Given the description of an element on the screen output the (x, y) to click on. 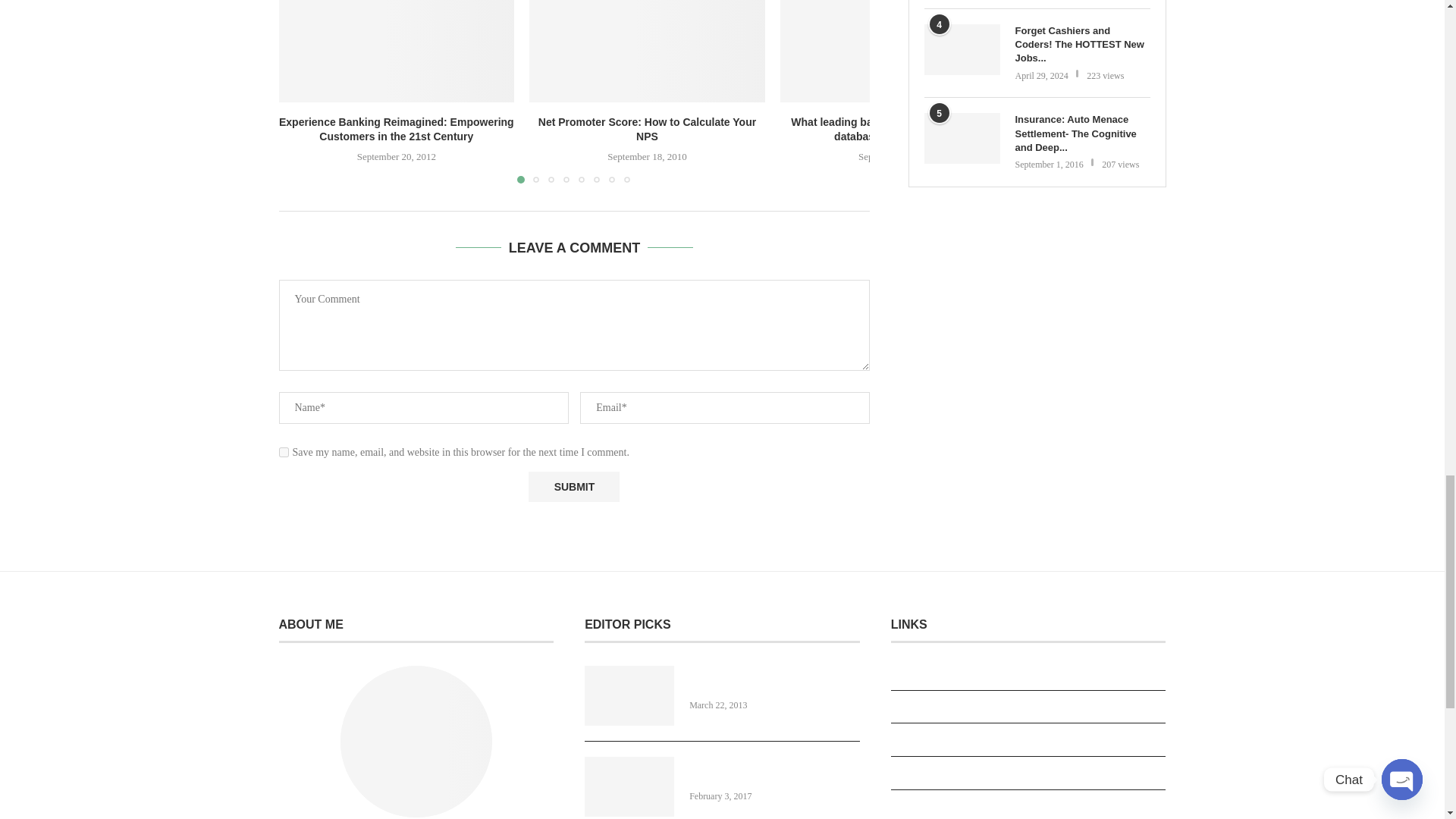
Submit (574, 486)
yes (283, 452)
Net Promoter Score: How to Calculate Your NPS (647, 51)
